Given the description of an element on the screen output the (x, y) to click on. 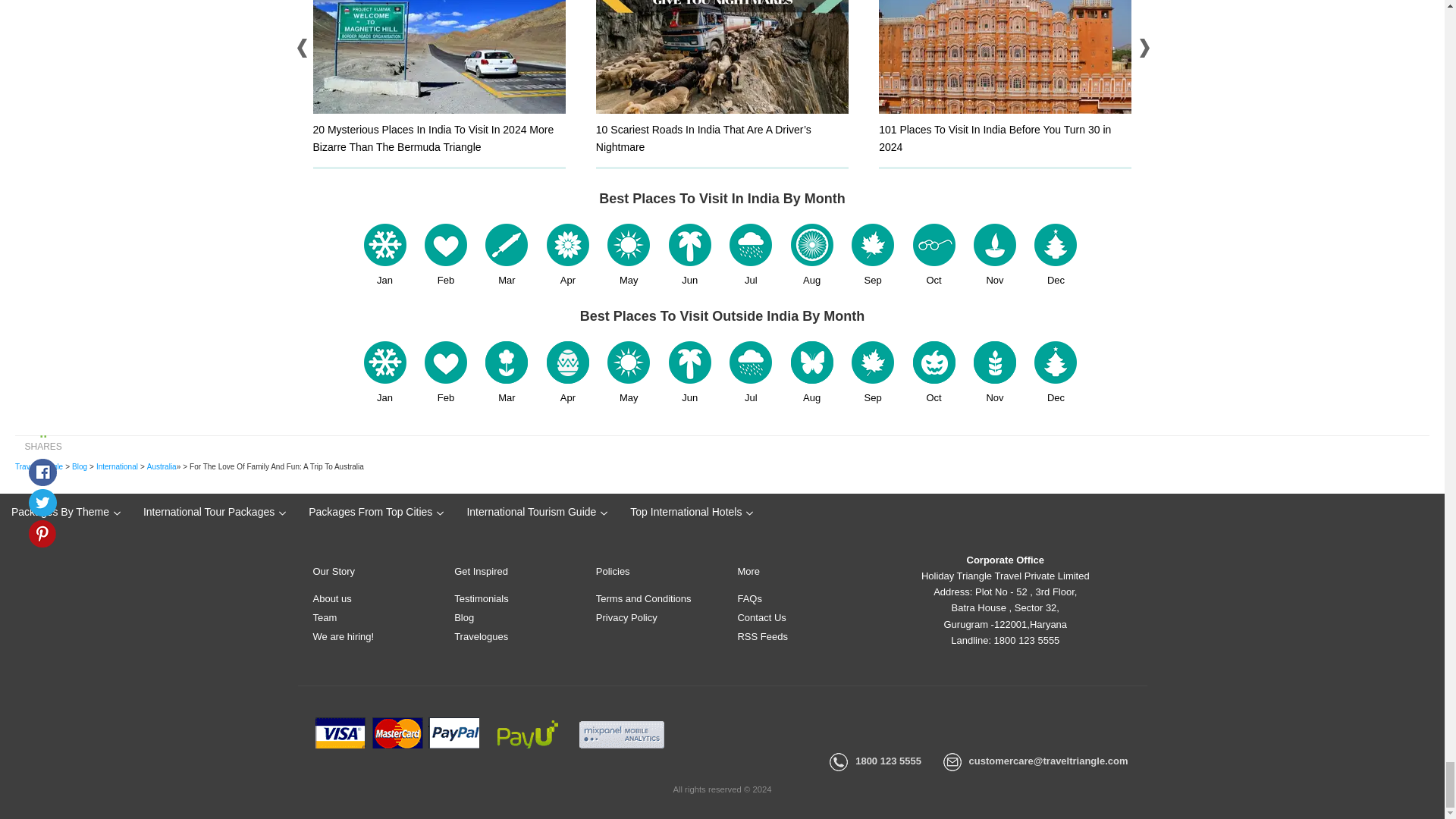
TravelTriangle (38, 466)
View all posts in Australia (161, 466)
Blog (79, 466)
International (117, 466)
